Given the description of an element on the screen output the (x, y) to click on. 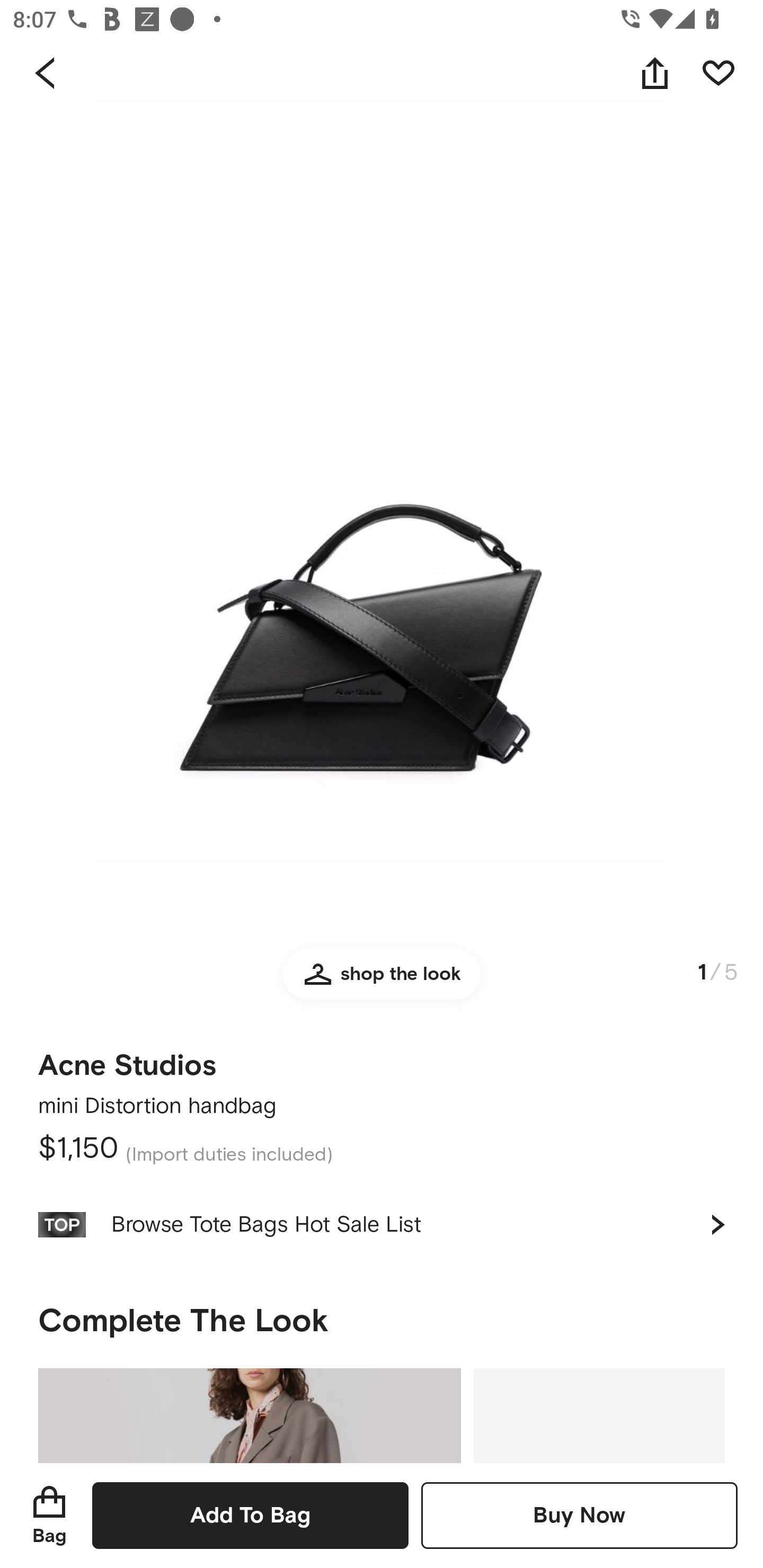
shop the look (381, 982)
Acne Studios (126, 1059)
Browse Tote Bags Hot Sale List (381, 1224)
Bag (49, 1515)
Add To Bag (250, 1515)
Buy Now (579, 1515)
